Given the description of an element on the screen output the (x, y) to click on. 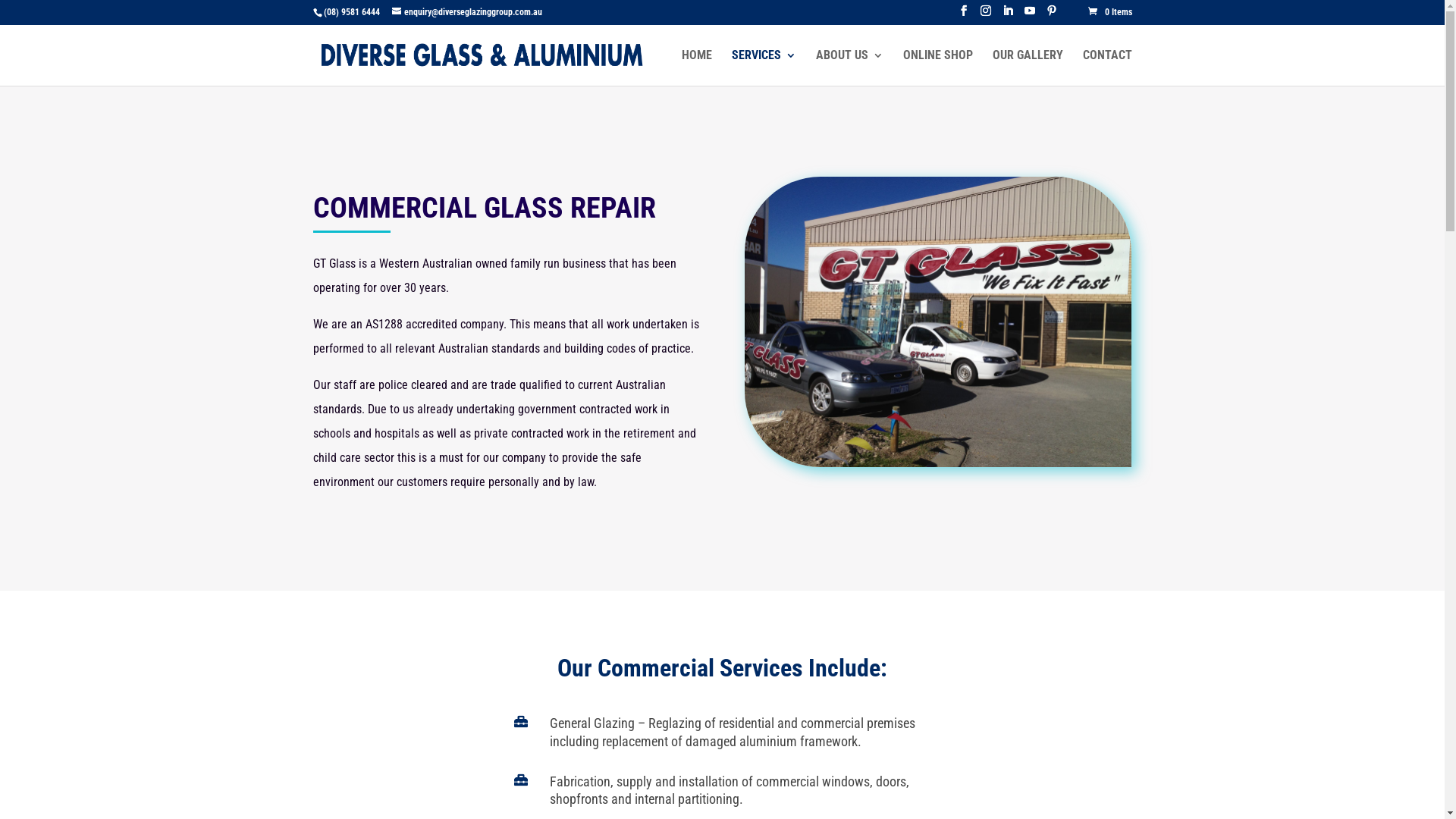
ONLINE SHOP Element type: text (937, 67)
ABOUT US Element type: text (849, 67)
GT Glass Replacement Element type: hover (937, 321)
CONTACT Element type: text (1107, 67)
(08) 9581 6444 Element type: text (351, 11)
SERVICES Element type: text (763, 67)
enquiry@diverseglazinggroup.com.au Element type: text (466, 11)
OUR GALLERY Element type: text (1026, 67)
0 Items Element type: text (1109, 11)
HOME Element type: text (695, 67)
